Given the description of an element on the screen output the (x, y) to click on. 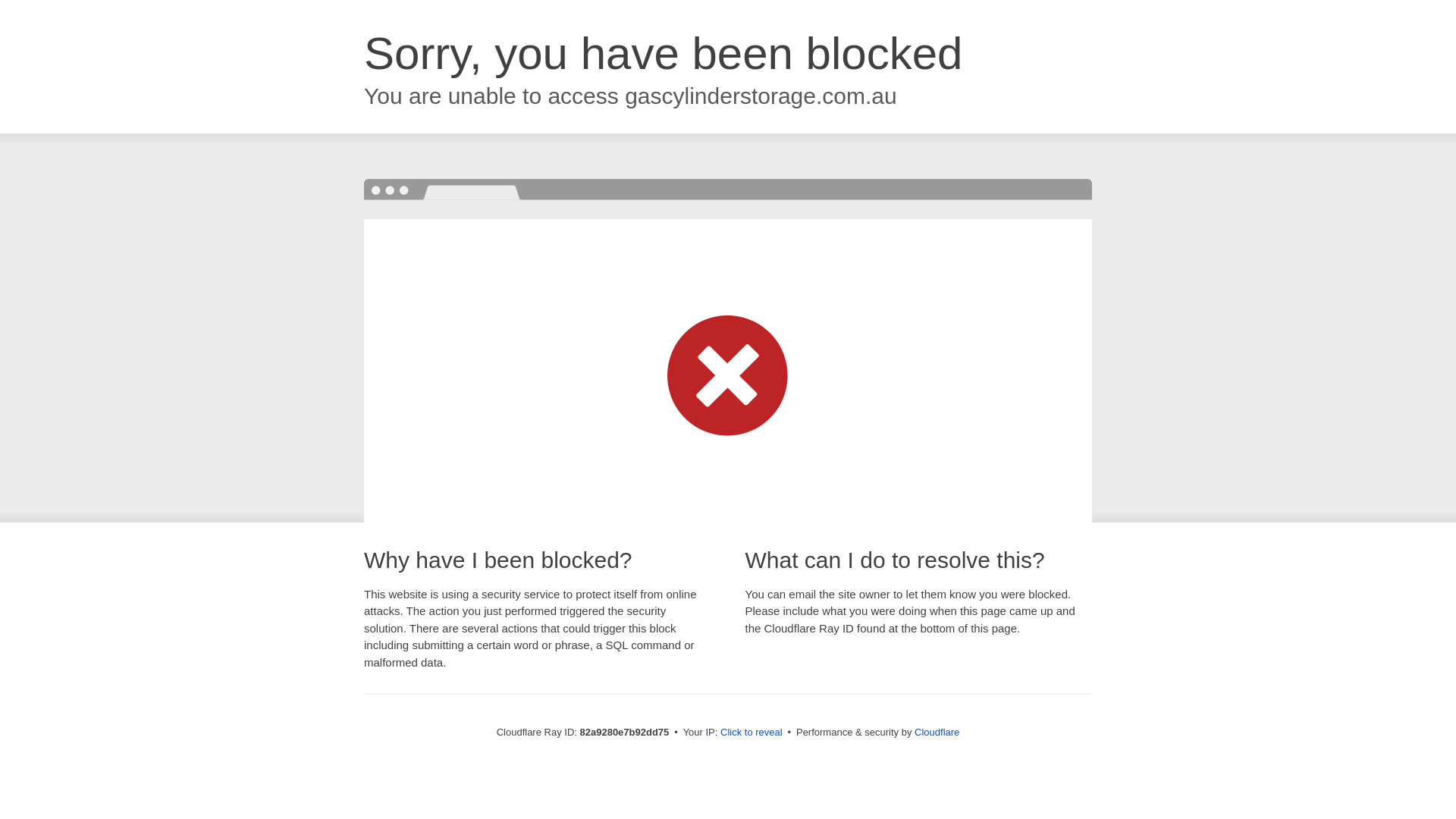
Cloudflare Element type: text (936, 731)
Click to reveal Element type: text (751, 732)
